Given the description of an element on the screen output the (x, y) to click on. 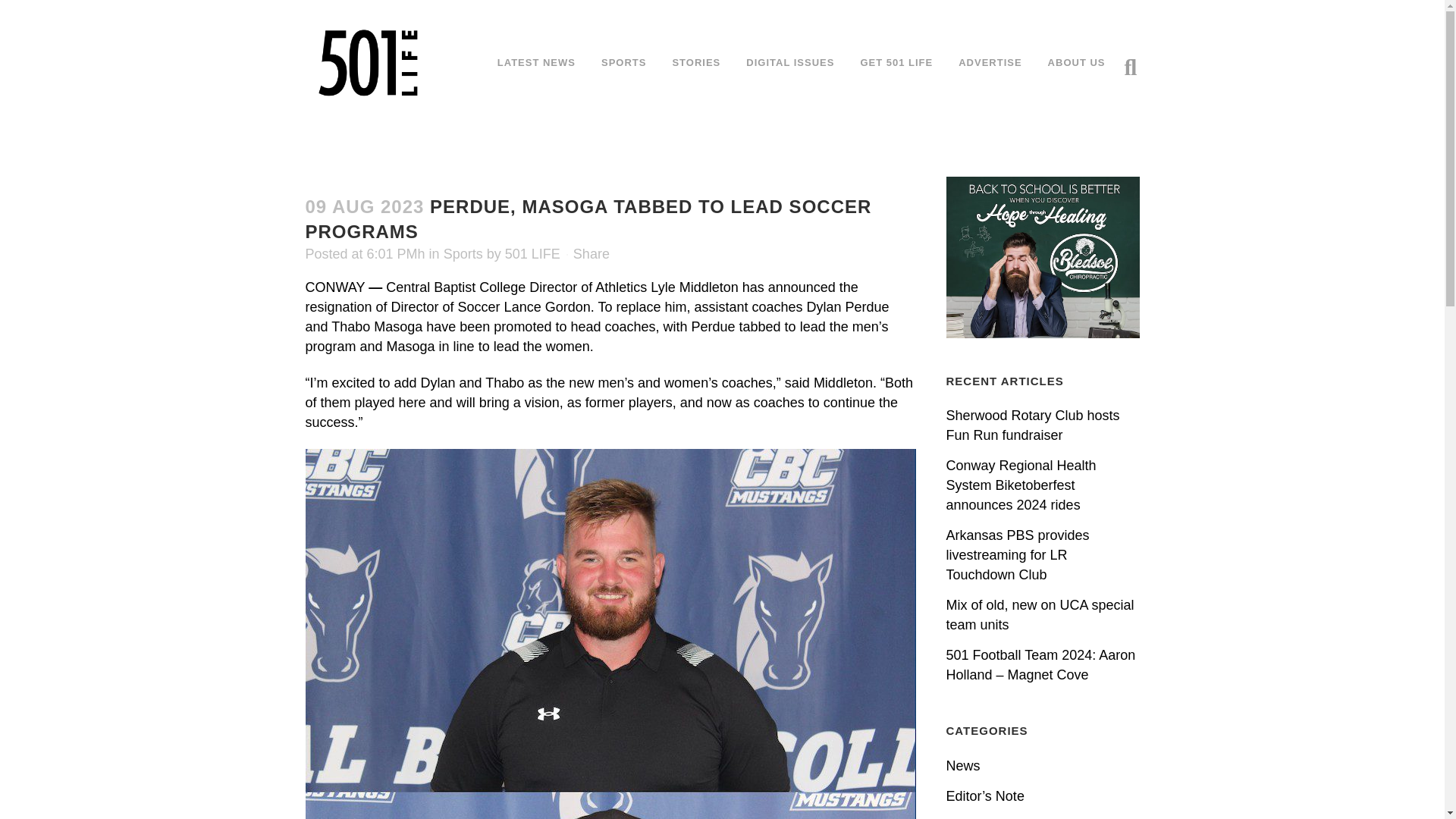
STORIES (696, 62)
ABOUT US (1076, 62)
GET 501 LIFE (895, 62)
DIGITAL ISSUES (790, 62)
LATEST NEWS (536, 62)
ADVERTISE (988, 62)
SPORTS (623, 62)
